Given the description of an element on the screen output the (x, y) to click on. 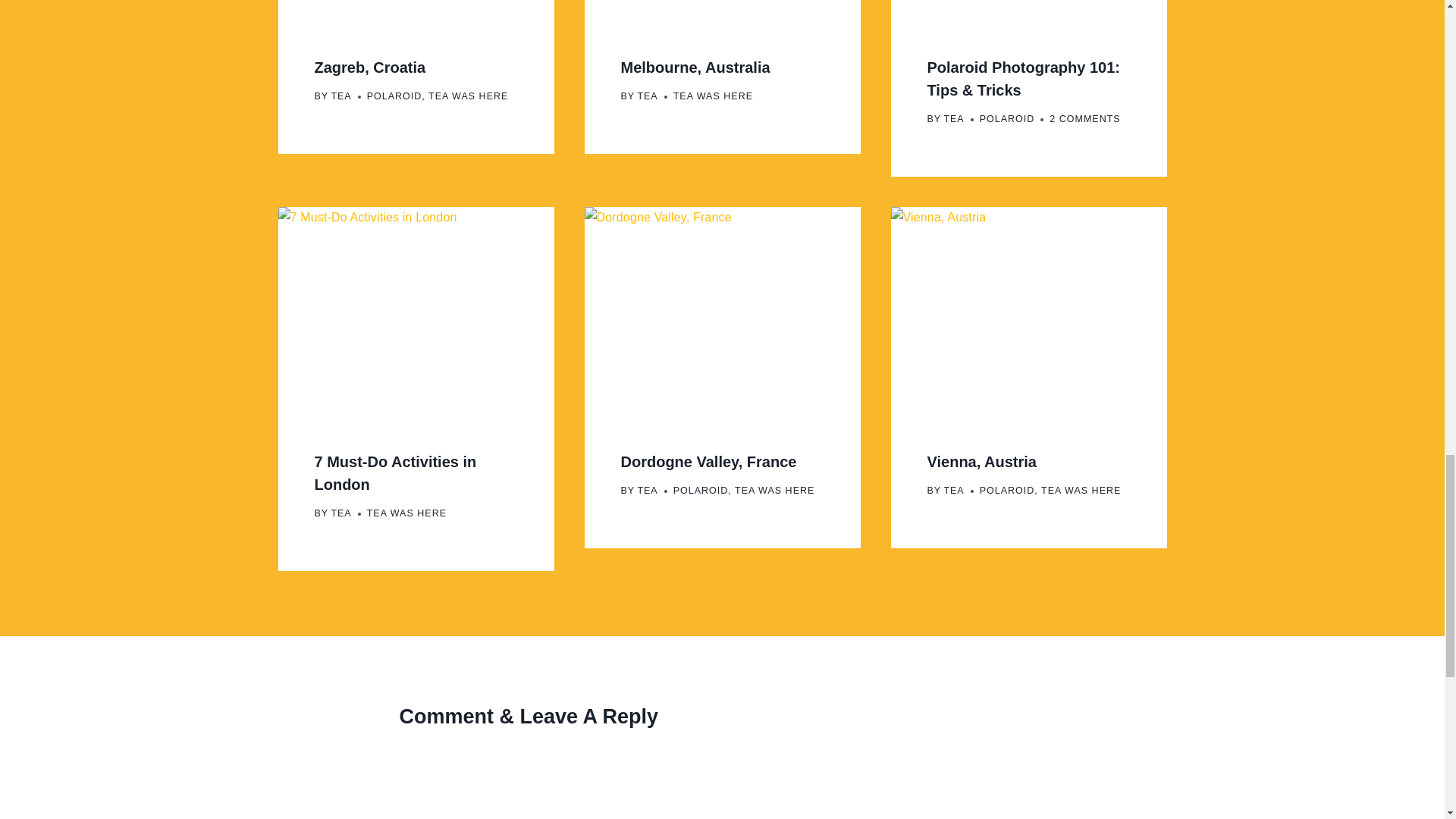
TEA (953, 118)
Dordogne Valley, France (708, 461)
TEA WAS HERE (406, 512)
TEA (647, 95)
TEA WAS HERE (468, 95)
POLAROID (700, 490)
POLAROID (1007, 490)
TEA WAS HERE (1081, 490)
TEA WAS HERE (774, 490)
POLAROID (394, 95)
TEA (340, 512)
2 COMMENTS (1084, 118)
TEA (953, 490)
Comment Form (721, 785)
TEA (647, 490)
